Given the description of an element on the screen output the (x, y) to click on. 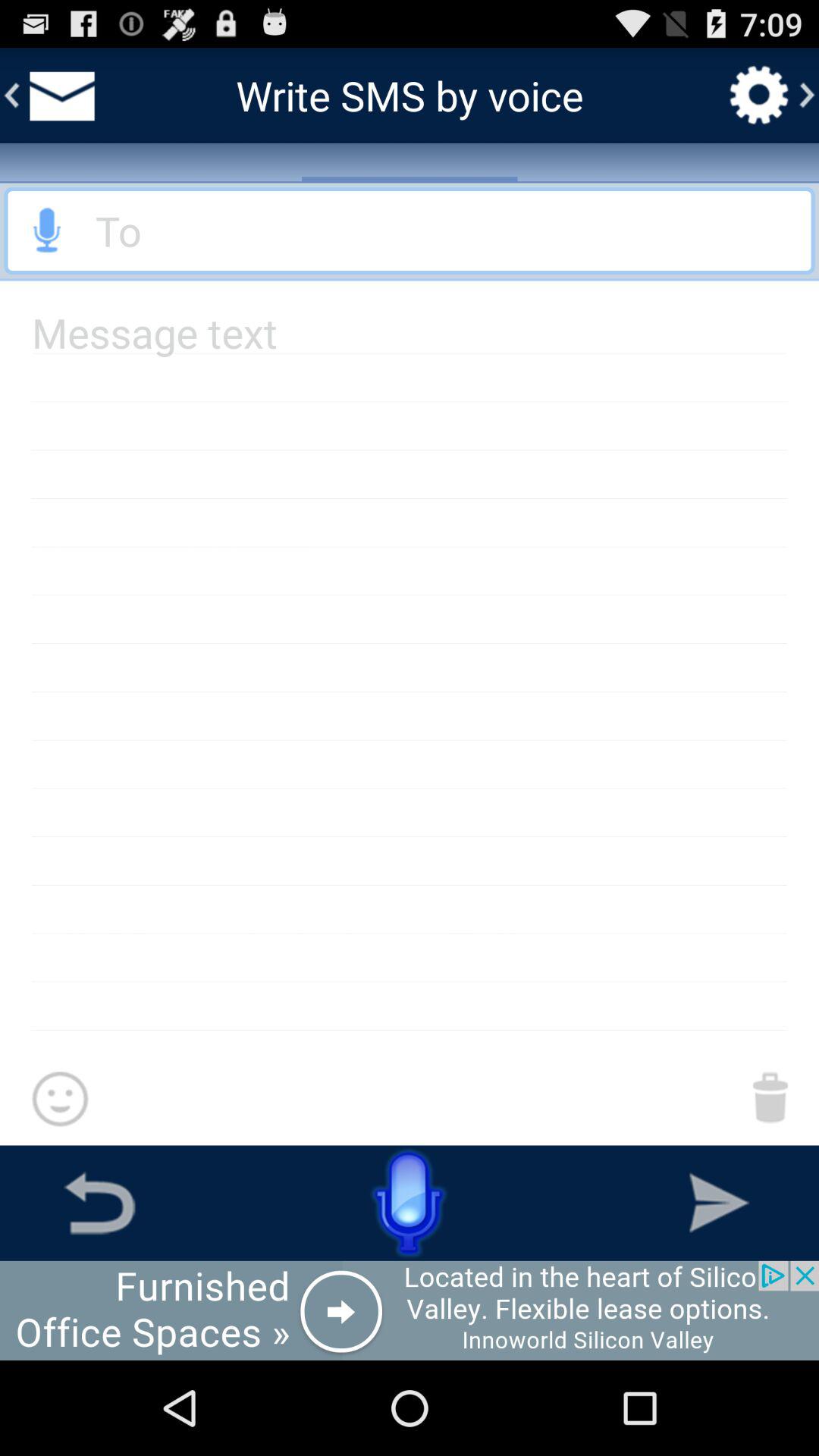
to delete (770, 1097)
